Given the description of an element on the screen output the (x, y) to click on. 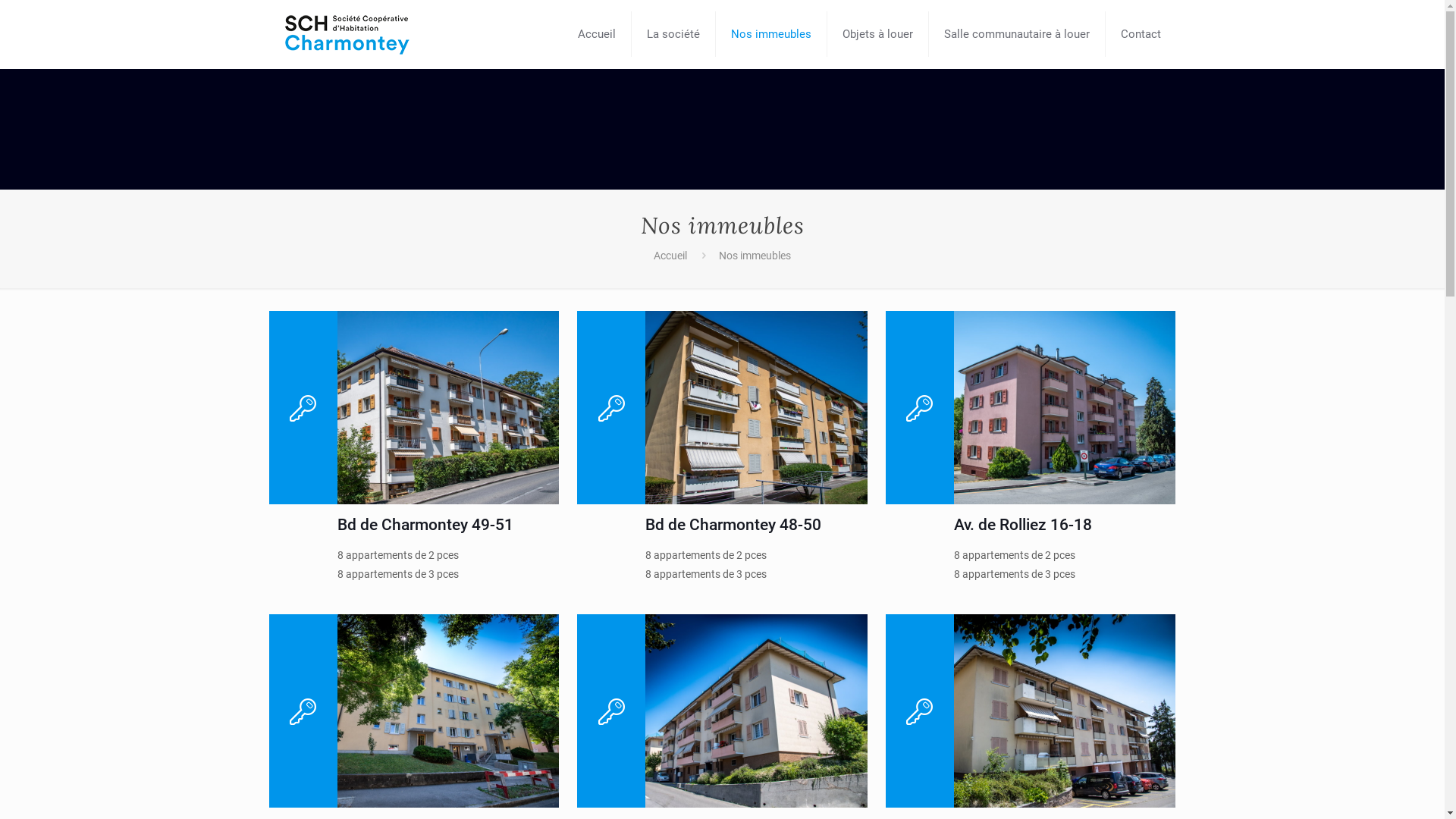
Accueil Element type: text (596, 34)
Contact Element type: text (1140, 34)
Nos immeubles Element type: text (771, 34)
Accueil Element type: text (670, 255)
